Given the description of an element on the screen output the (x, y) to click on. 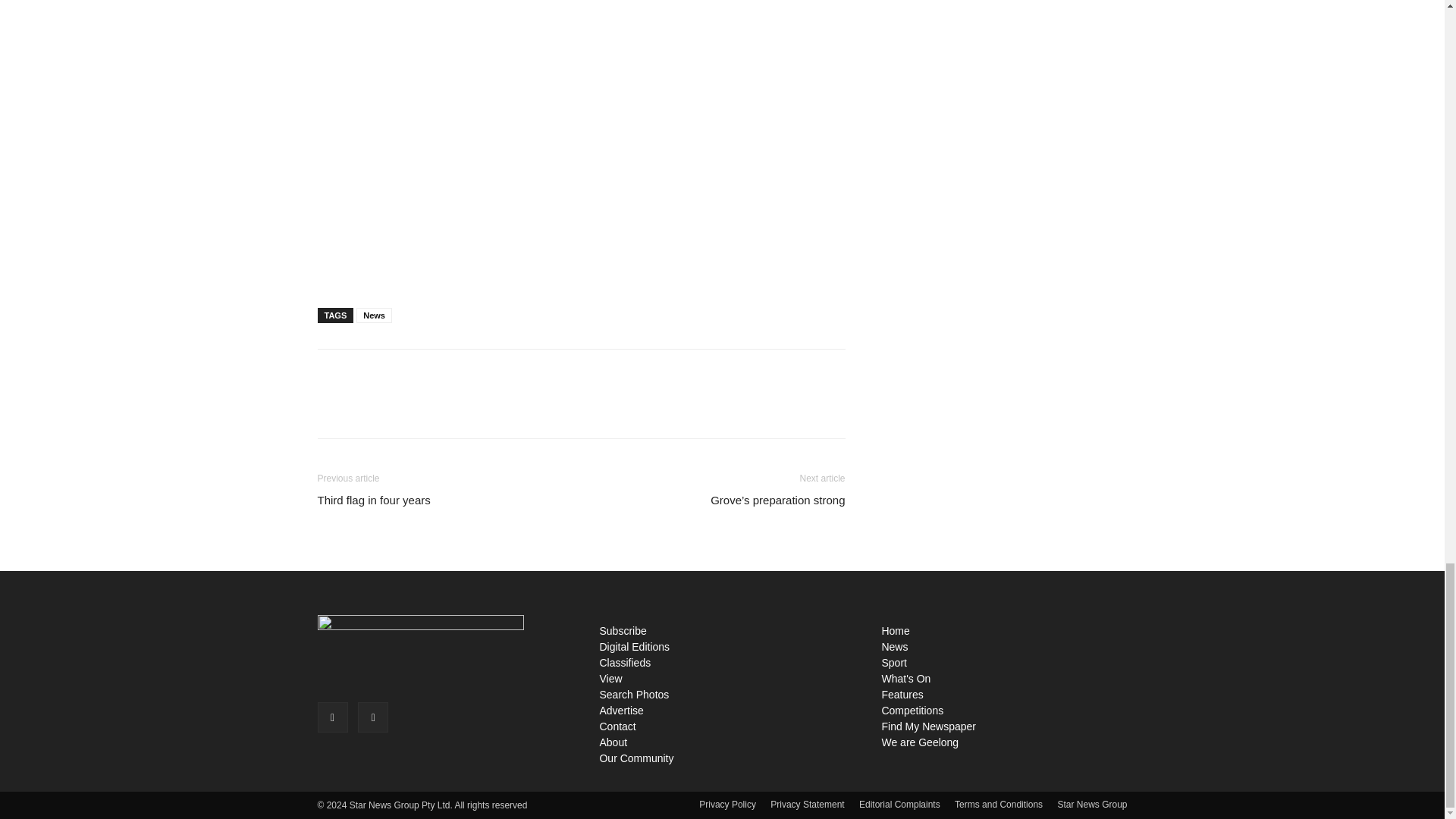
bottomFacebookLike (430, 373)
